Given the description of an element on the screen output the (x, y) to click on. 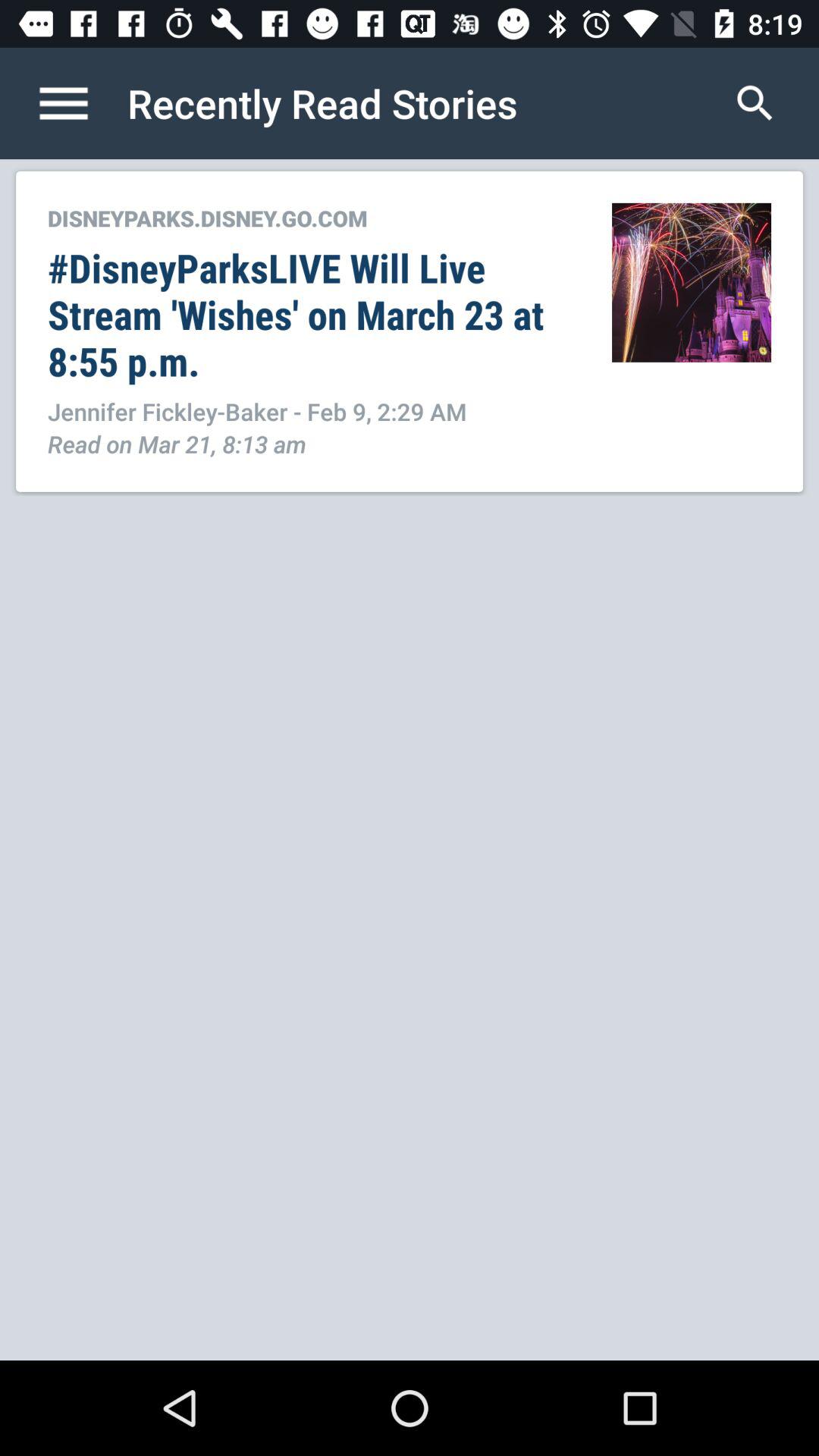
click the icon to the right of disneyparks disney go item (691, 282)
